Given the description of an element on the screen output the (x, y) to click on. 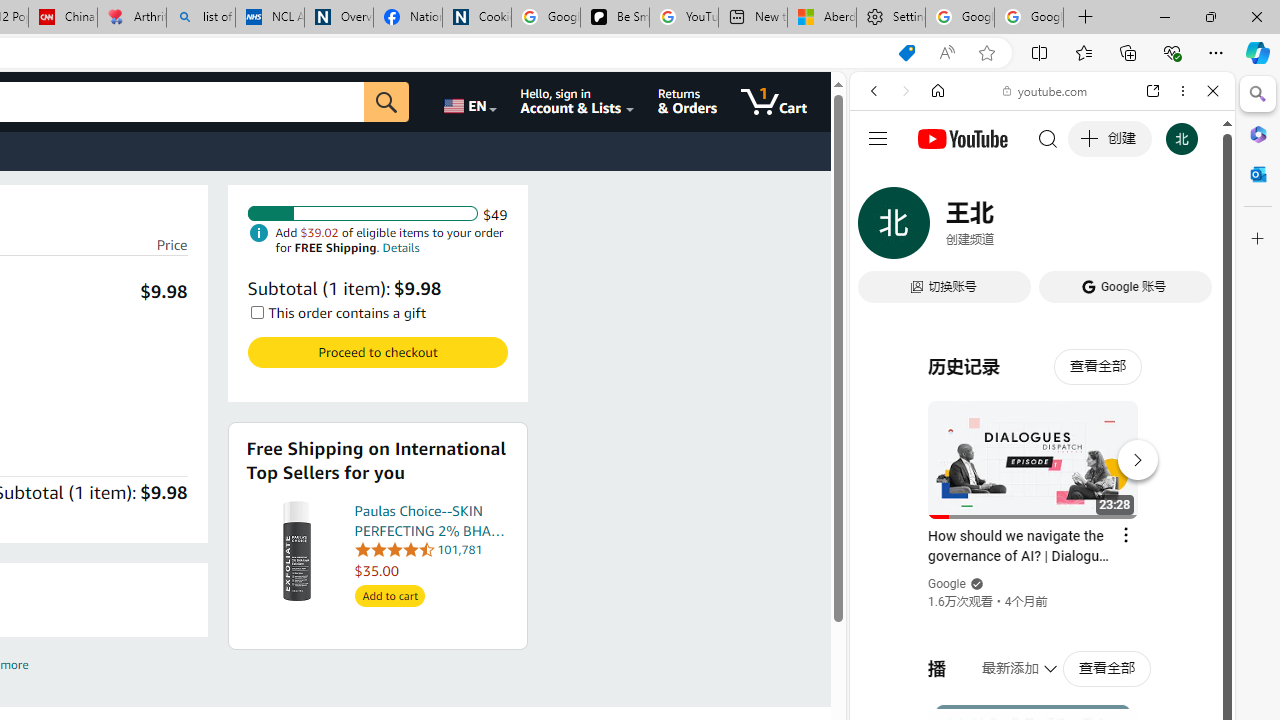
Choose a language for shopping. (468, 101)
